Given the description of an element on the screen output the (x, y) to click on. 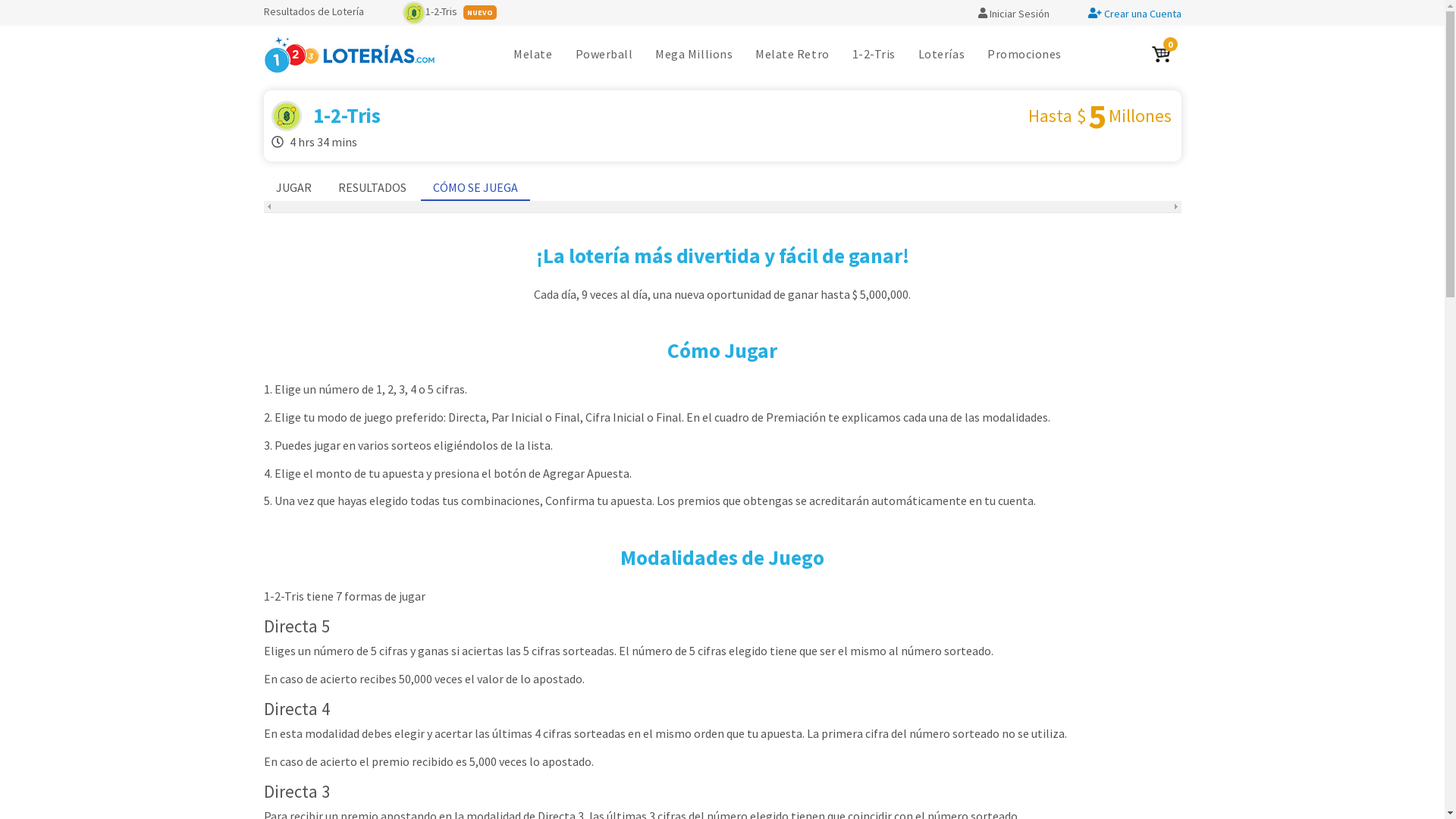
RESULTADOS Element type: text (372, 187)
Mega Millions Element type: text (693, 54)
Promociones Element type: text (1024, 54)
Crear una Cuenta Element type: text (1134, 13)
1-2-Tris Element type: text (428, 11)
Melate Element type: text (532, 54)
Melate Retro Element type: text (791, 54)
1-2-Tris Element type: text (873, 54)
JUGAR Element type: text (293, 187)
Powerball Element type: text (604, 54)
0 Element type: text (1160, 54)
123loterias Element type: hover (349, 54)
